Given the description of an element on the screen output the (x, y) to click on. 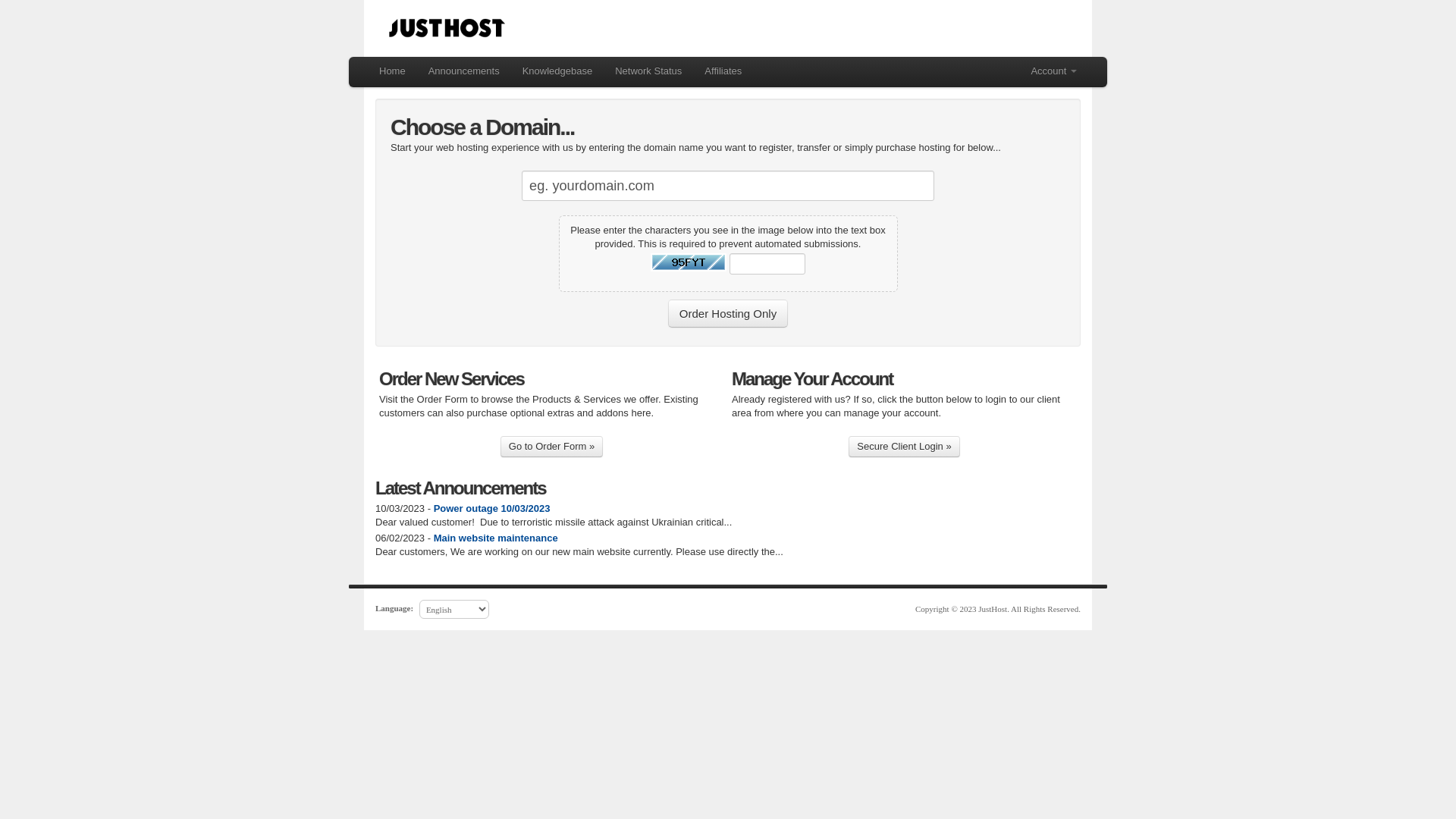
Announcements Element type: text (463, 71)
Power outage 10/03/2023 Element type: text (491, 508)
Network Status Element type: text (648, 71)
Home Element type: text (392, 71)
Affiliates Element type: text (722, 71)
Knowledgebase Element type: text (557, 71)
Account  Element type: text (1053, 71)
Order Hosting Only Element type: text (727, 313)
Main website maintenance Element type: text (495, 537)
